Given the description of an element on the screen output the (x, y) to click on. 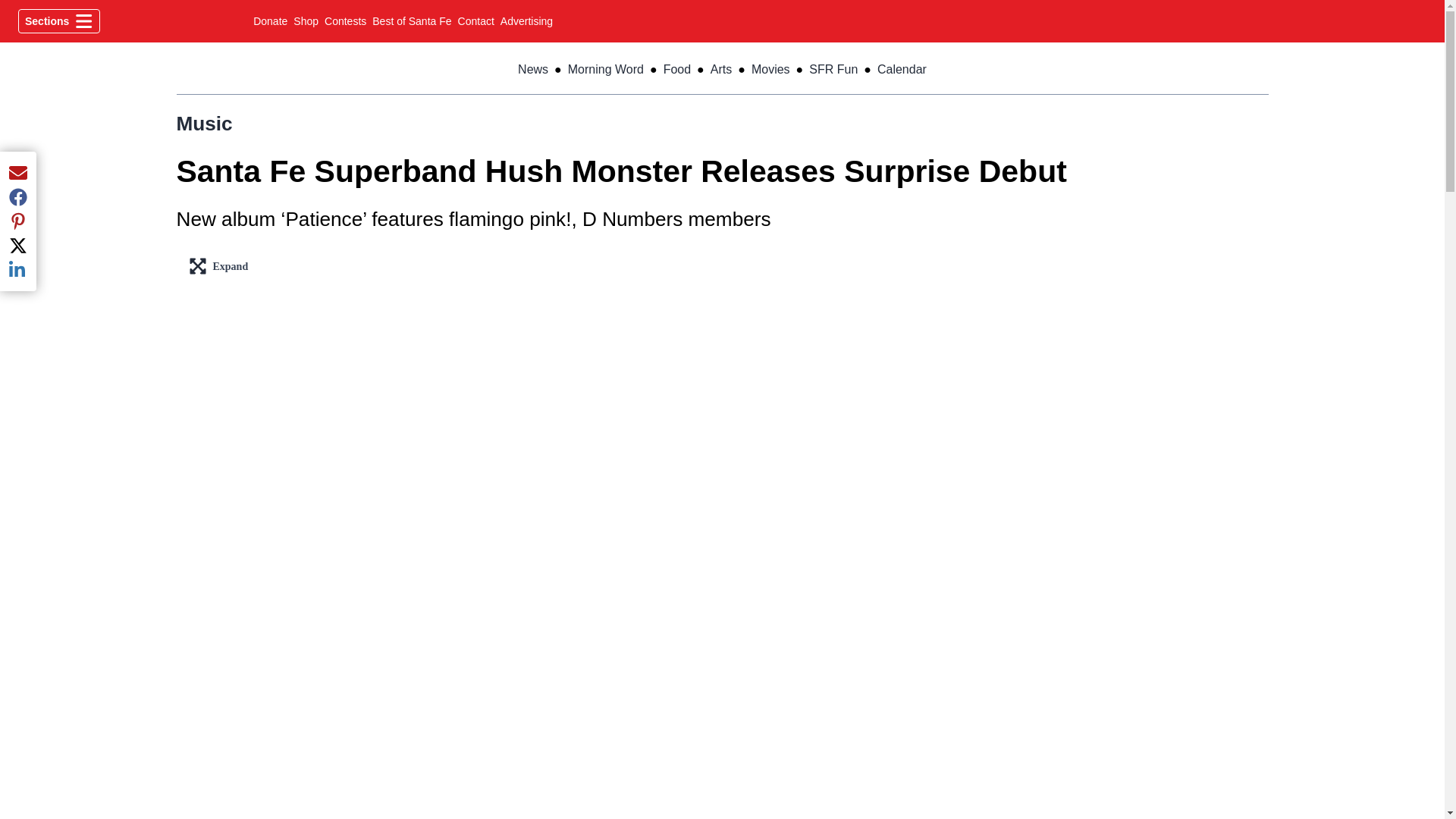
Best of Santa Fe (411, 21)
Donate (269, 21)
Advertising (526, 21)
Contact (476, 21)
Contests (306, 21)
Sections (345, 21)
